Given the description of an element on the screen output the (x, y) to click on. 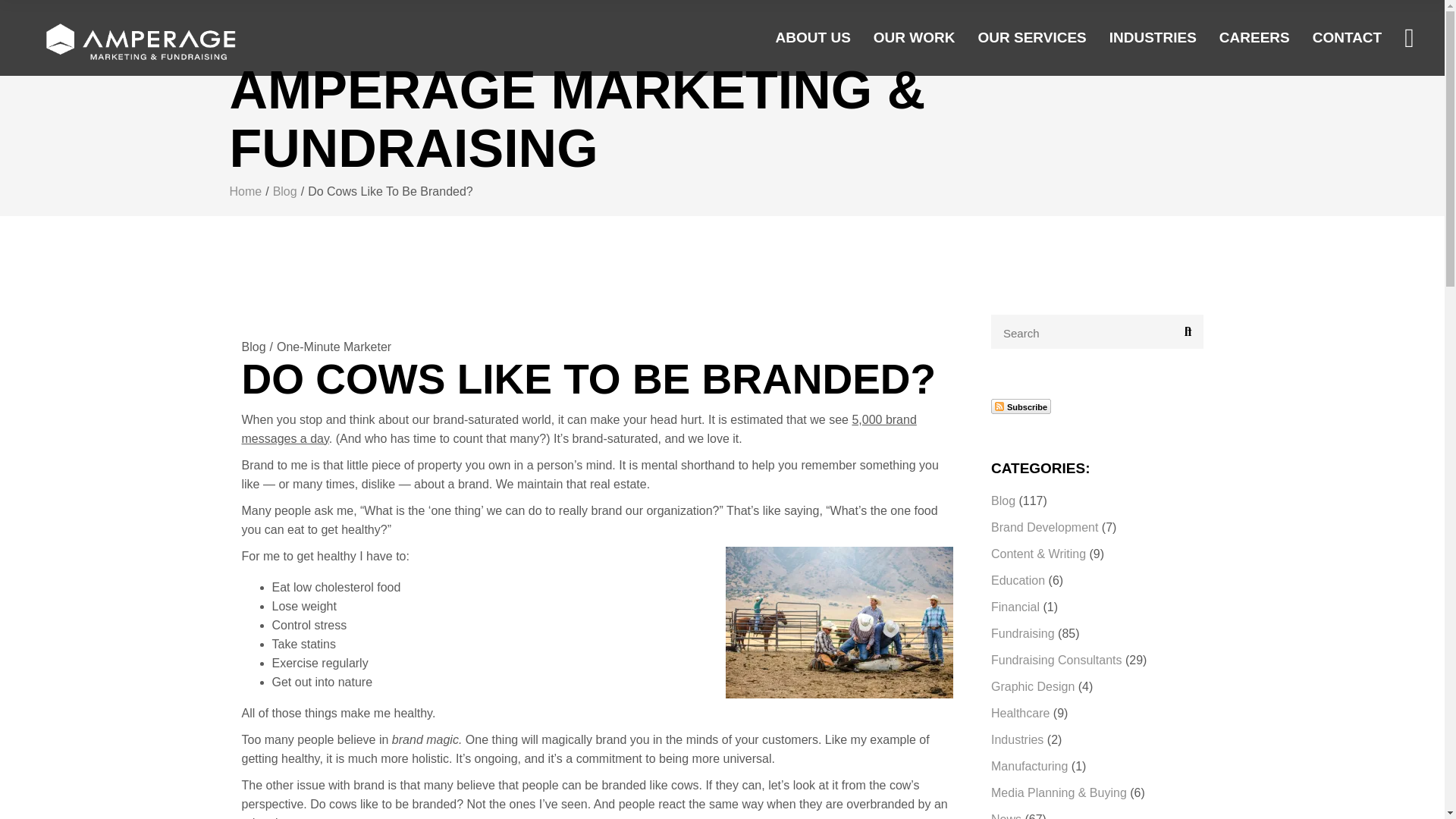
OUR WORK (914, 38)
CAREERS (1255, 38)
OUR SERVICES (1032, 38)
INDUSTRIES (1152, 38)
CONTACT (1347, 38)
ABOUT US (813, 38)
